Given the description of an element on the screen output the (x, y) to click on. 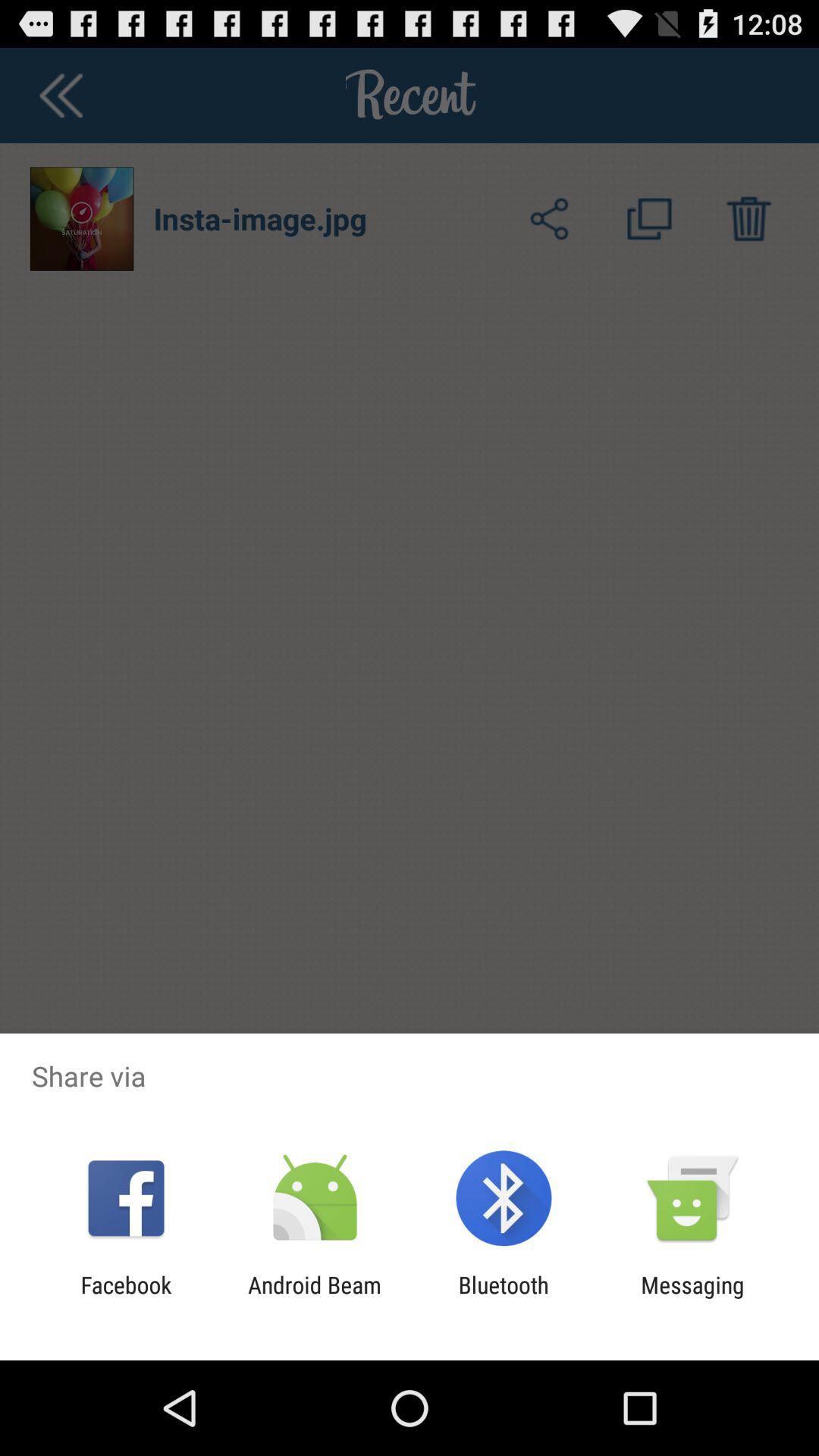
turn off icon to the right of the android beam (503, 1298)
